Given the description of an element on the screen output the (x, y) to click on. 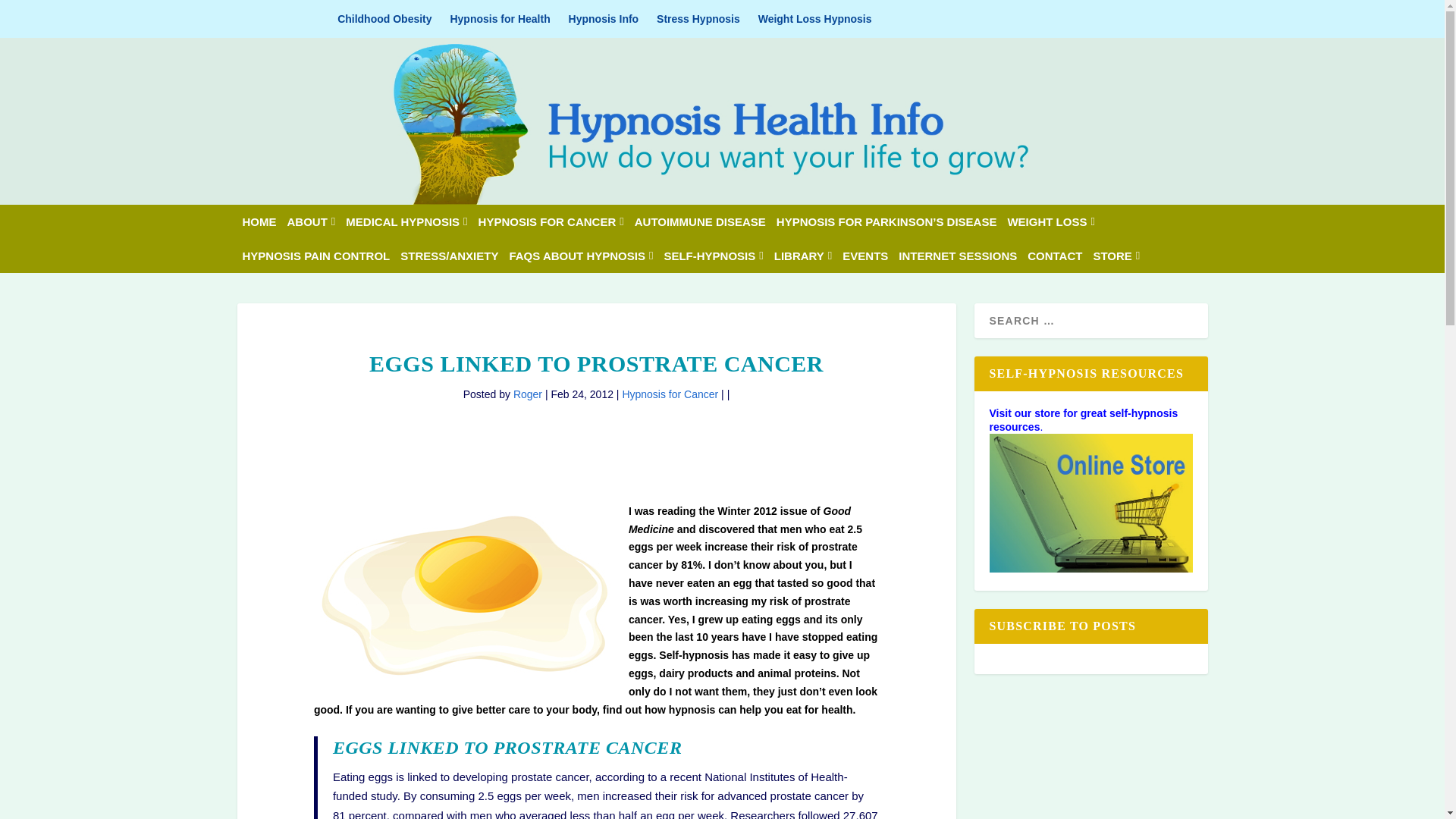
Posts by Roger (527, 394)
ABOUT (310, 221)
HOME (259, 221)
WEIGHT LOSS (1050, 221)
MEDICAL HYPNOSIS (406, 221)
Hypnosis for Health (499, 18)
Stress Hypnosis (697, 18)
HYPNOSIS PAIN CONTROL (316, 255)
Childhood Obesity (383, 18)
AUTOIMMUNE DISEASE (699, 221)
